Given the description of an element on the screen output the (x, y) to click on. 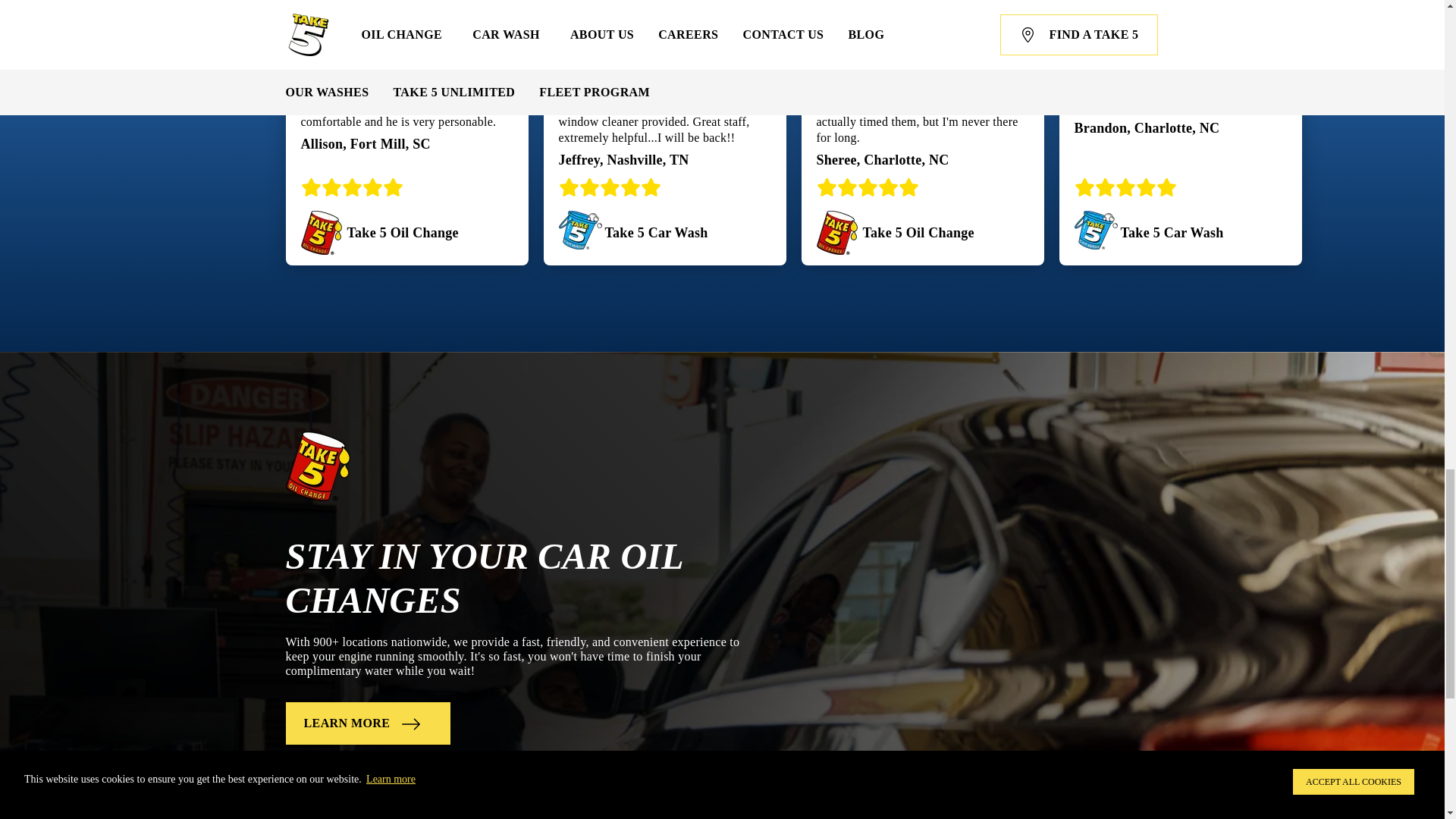
LEARN MORE (367, 722)
